Given the description of an element on the screen output the (x, y) to click on. 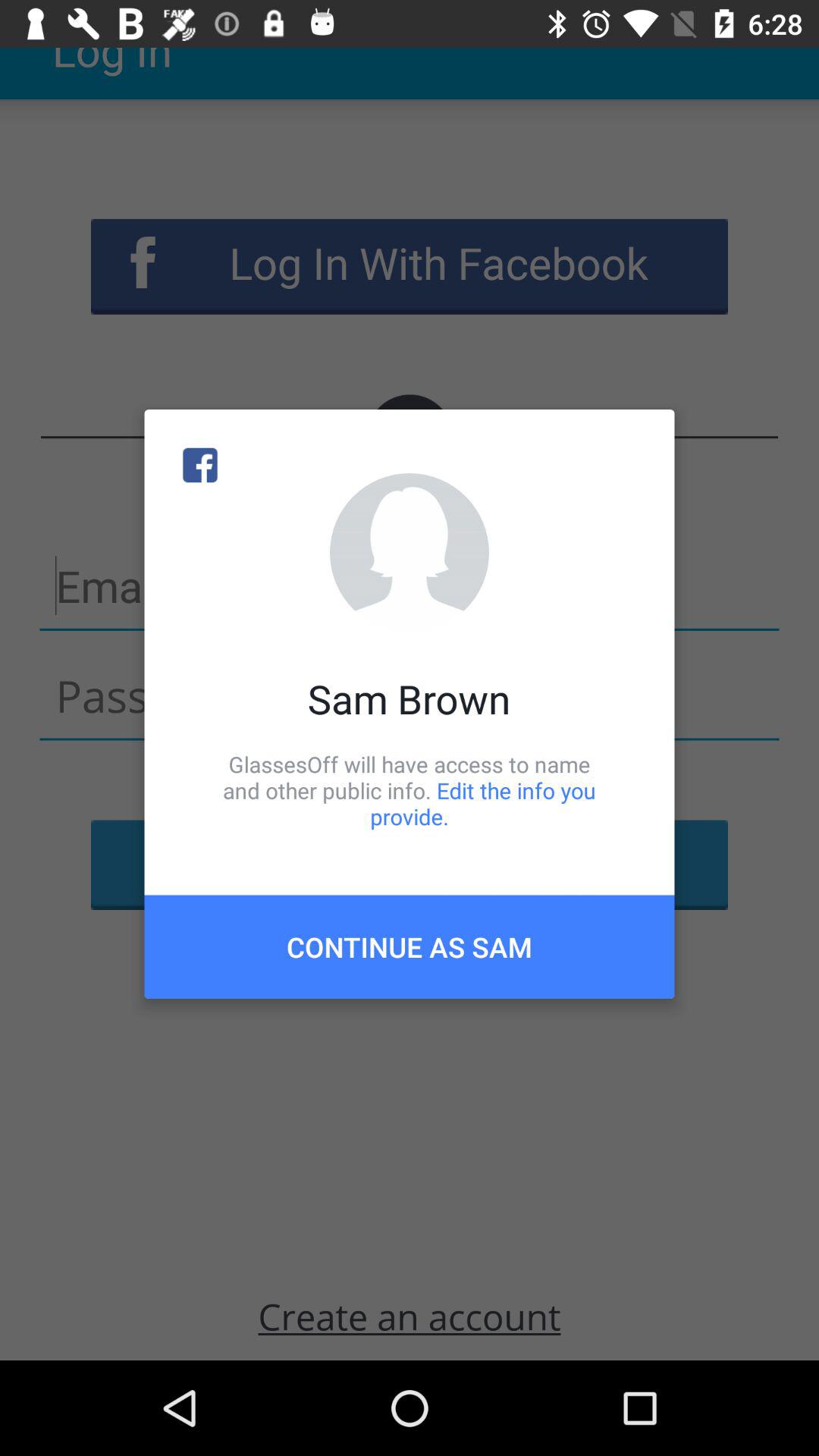
turn off the continue as sam icon (409, 946)
